Given the description of an element on the screen output the (x, y) to click on. 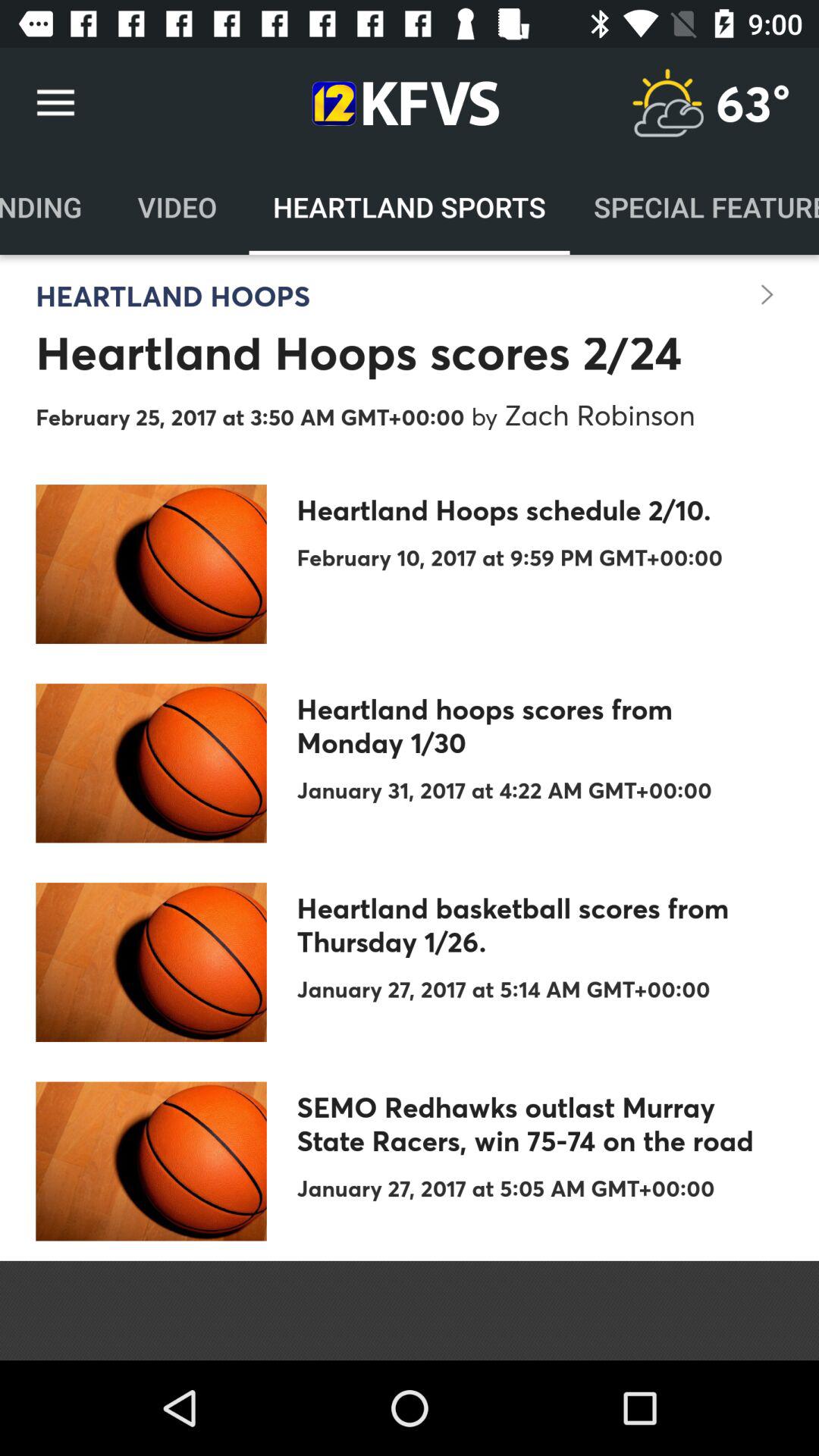
temperature (667, 103)
